Given the description of an element on the screen output the (x, y) to click on. 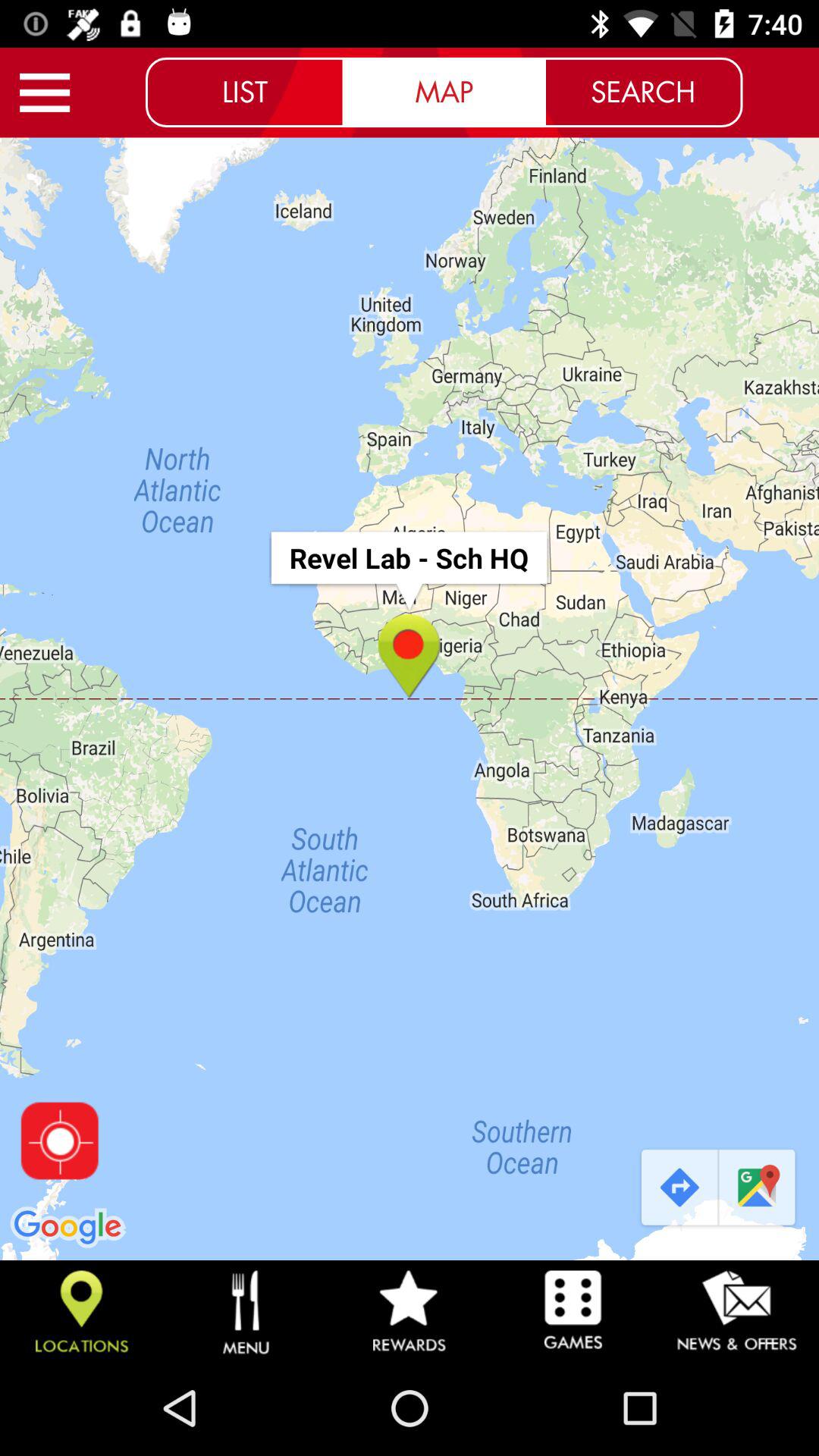
menu button (44, 92)
